Given the description of an element on the screen output the (x, y) to click on. 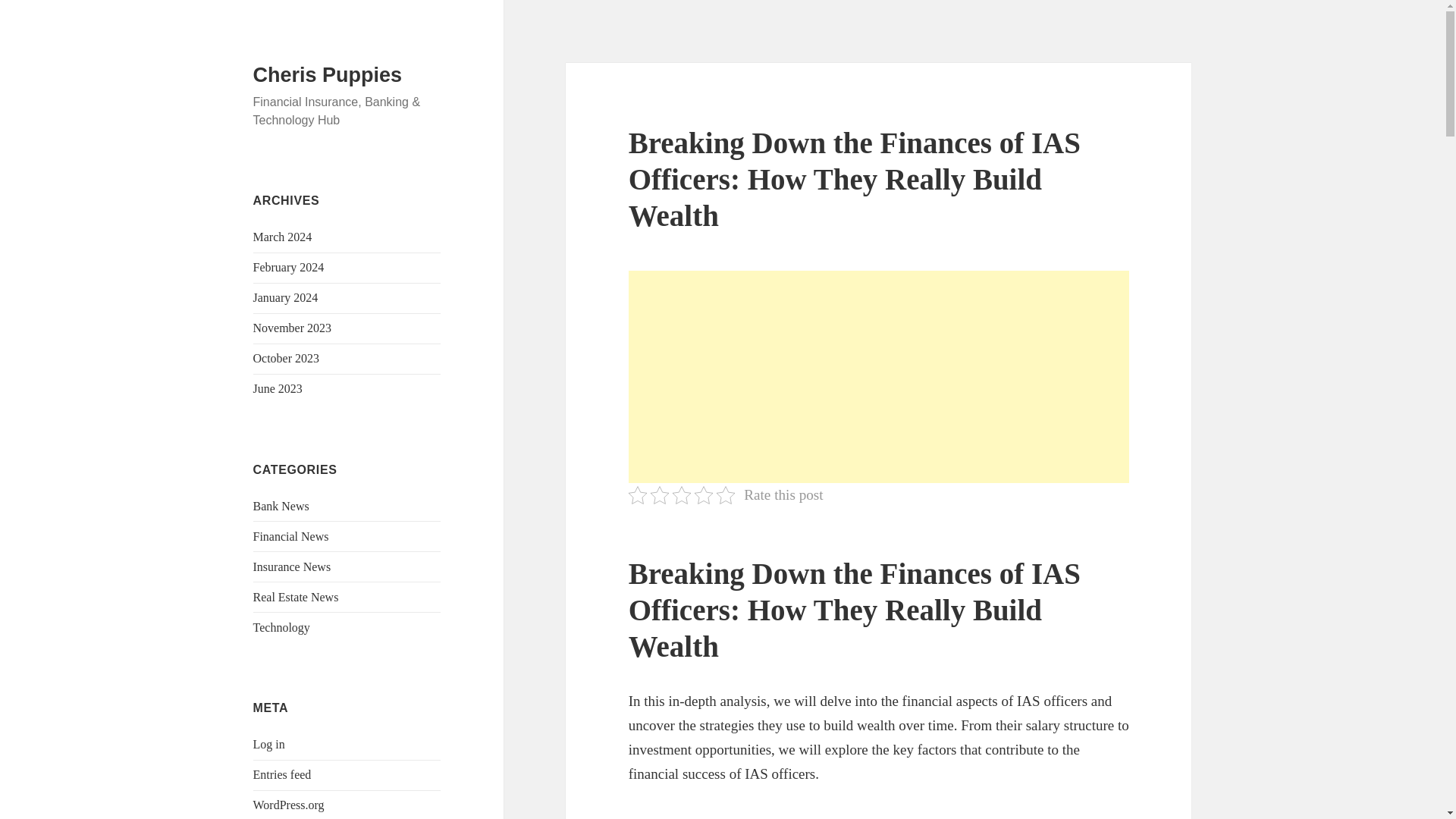
June 2023 (277, 388)
Real Estate News (296, 596)
Entries feed (282, 774)
Log in (269, 744)
October 2023 (286, 358)
February 2024 (288, 267)
January 2024 (285, 297)
Bank News (280, 505)
Insurance News (292, 566)
Advertisement (878, 377)
Financial News (291, 535)
Cheris Puppies (328, 74)
March 2024 (283, 236)
November 2023 (292, 327)
WordPress.org (288, 804)
